Given the description of an element on the screen output the (x, y) to click on. 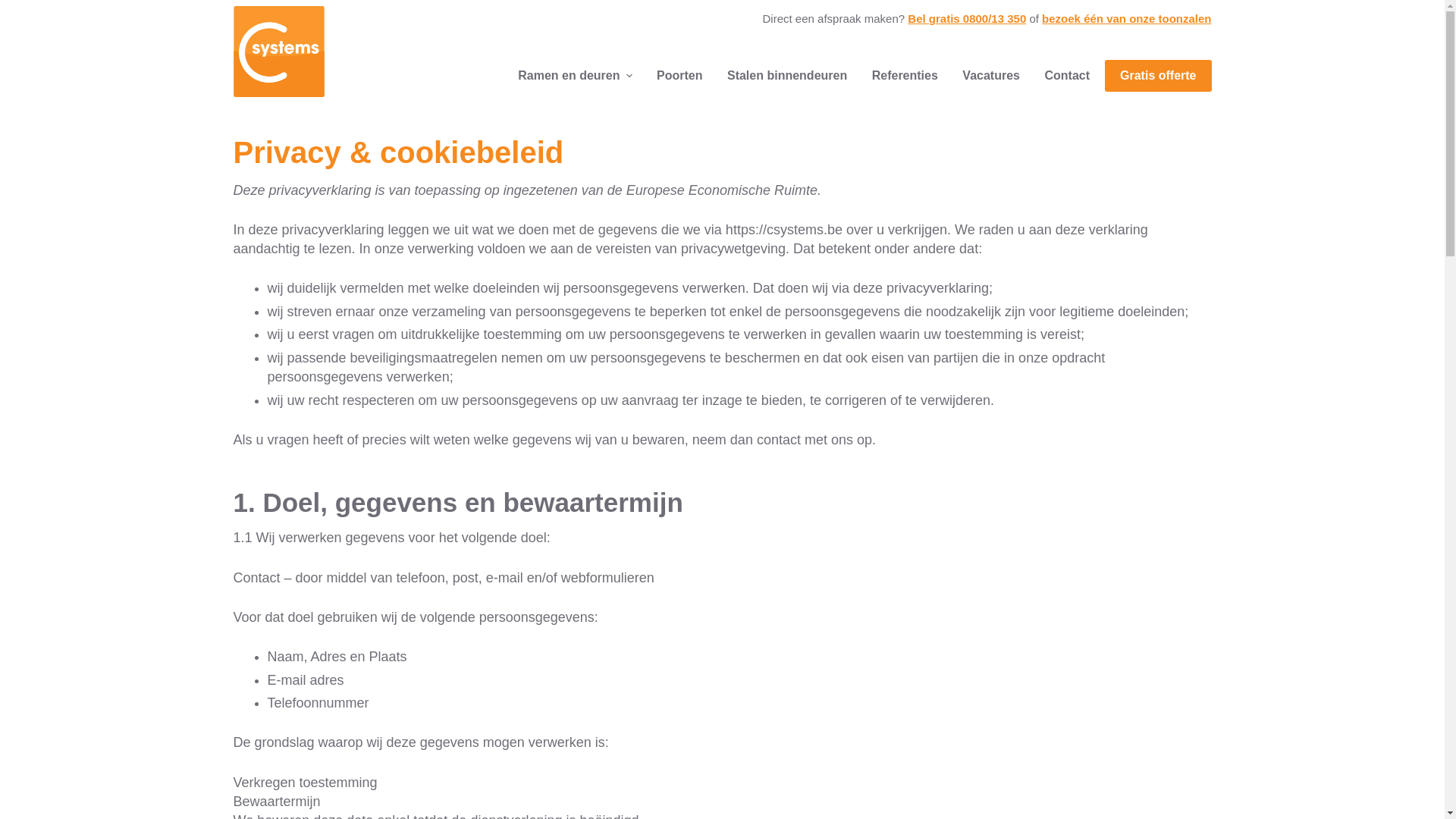
Referenties Element type: text (898, 75)
Ramen en deuren Element type: text (577, 75)
Contact Element type: text (1057, 75)
Stalen binnendeuren Element type: text (780, 75)
Vacatures Element type: text (984, 75)
Gratis offerte Element type: text (1157, 75)
Bel gratis 0800/13 350 Element type: text (966, 18)
Poorten Element type: text (672, 75)
Doorgaan naar artikel Element type: text (15, 7)
